Given the description of an element on the screen output the (x, y) to click on. 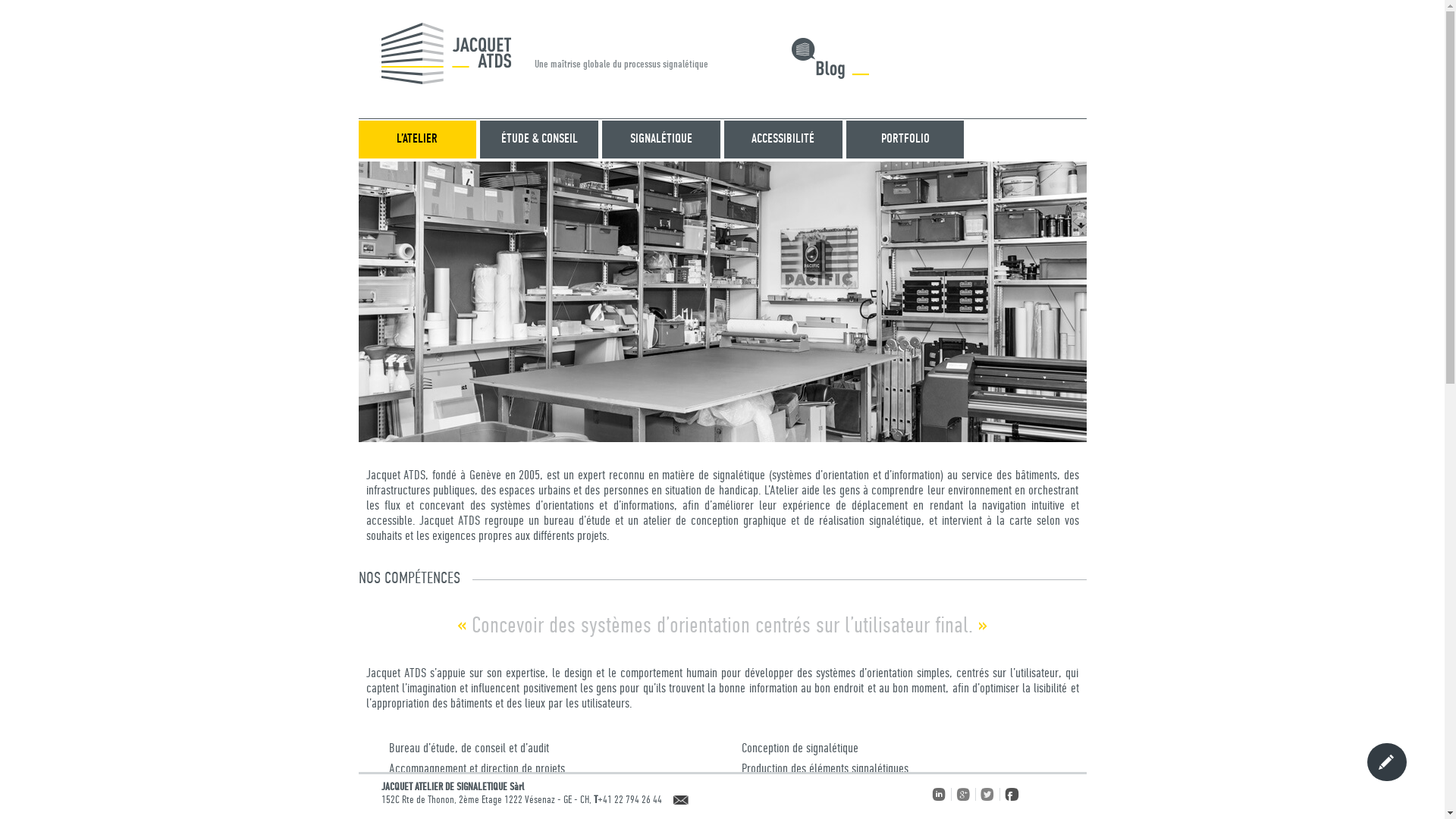
+41 22 794 26 44 Element type: text (629, 799)
PORTFOLIO Element type: text (904, 139)
